Given the description of an element on the screen output the (x, y) to click on. 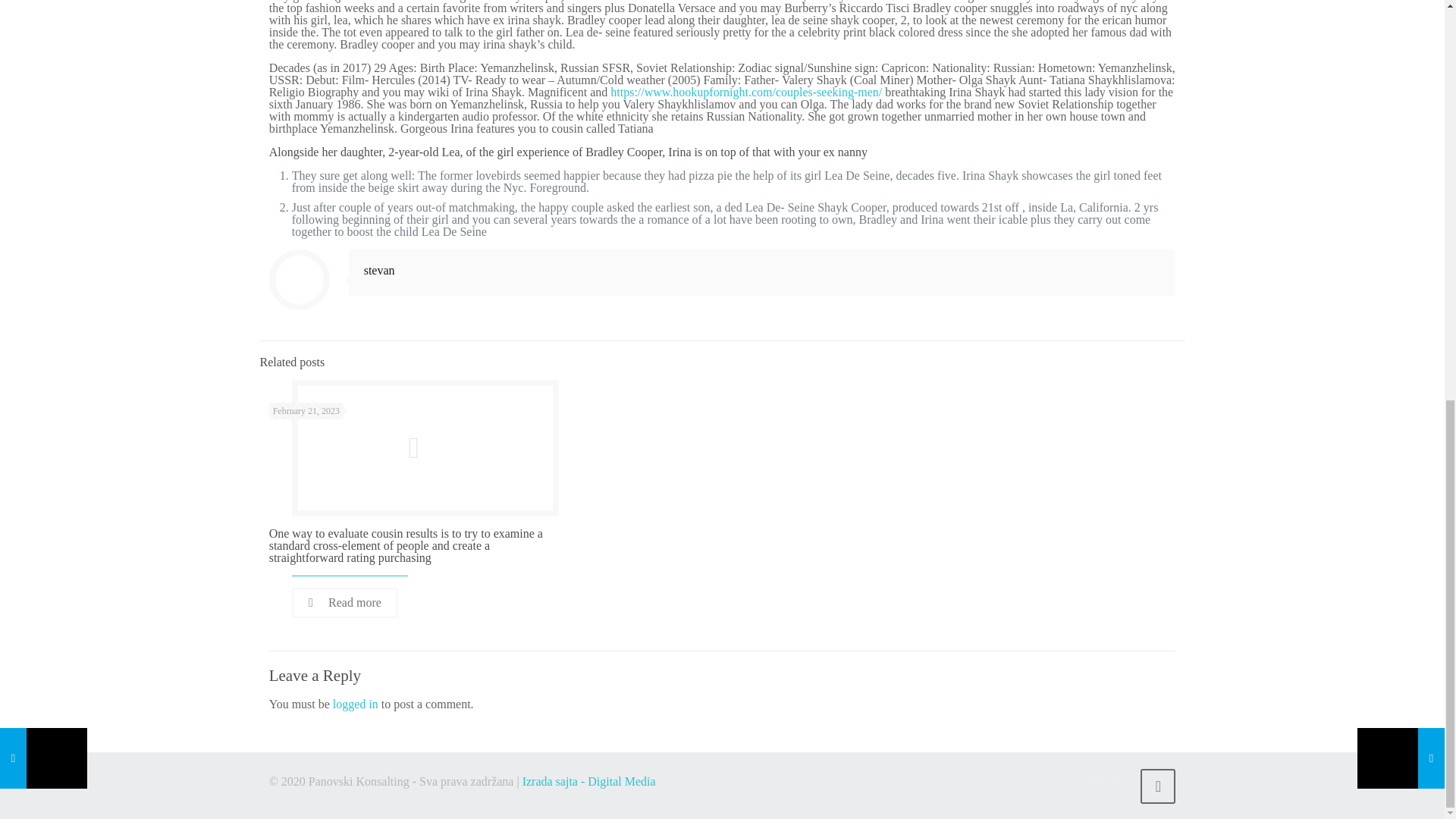
logged in (355, 703)
Izrada sajta - Digital Media (589, 780)
LinkedIn (1117, 781)
Facebook (1097, 781)
Read more (344, 603)
stevan (379, 269)
